Given the description of an element on the screen output the (x, y) to click on. 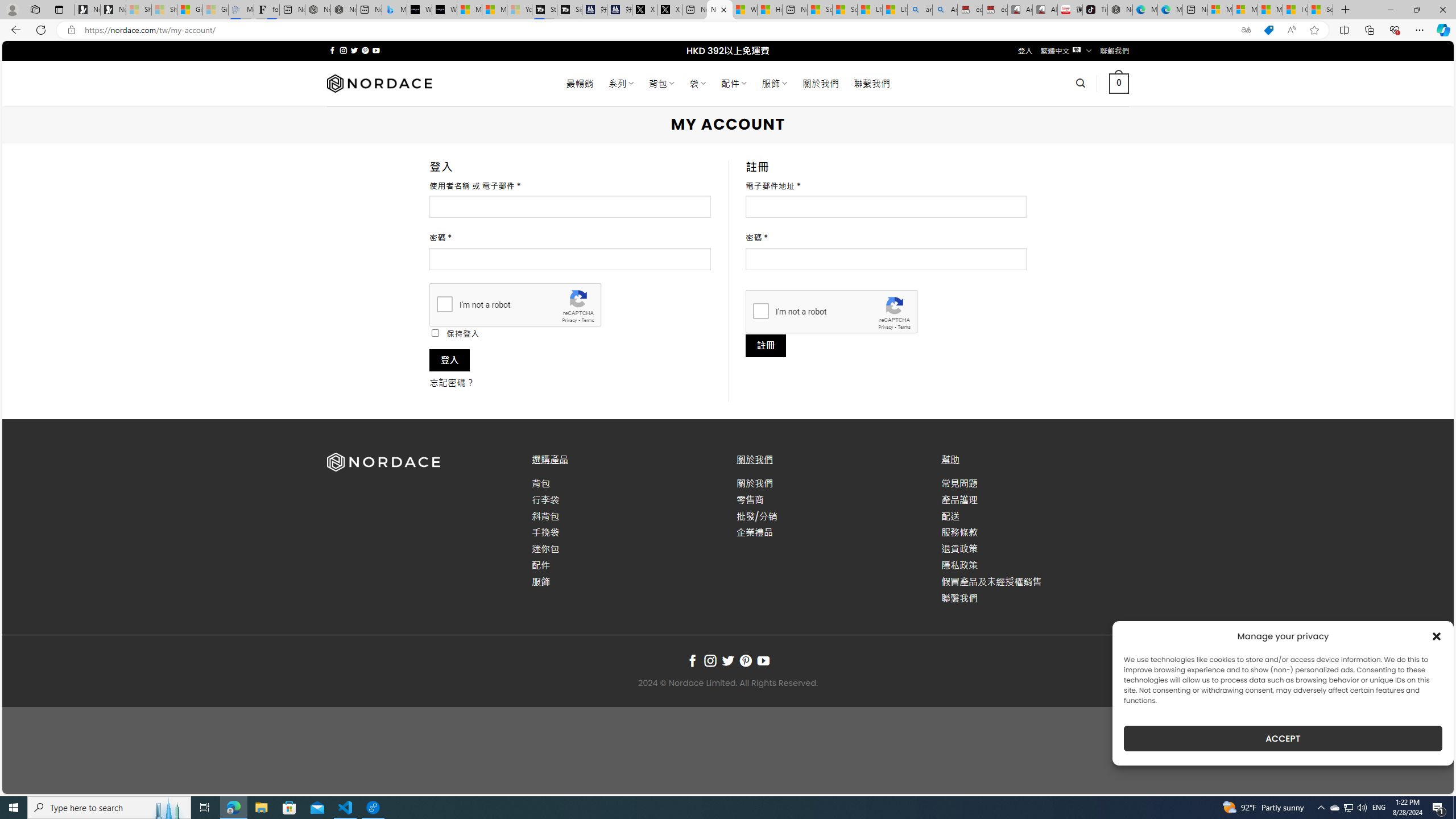
All Cubot phones (1044, 9)
Microsoft Bing Travel - Shangri-La Hotel Bangkok (394, 9)
